Given the description of an element on the screen output the (x, y) to click on. 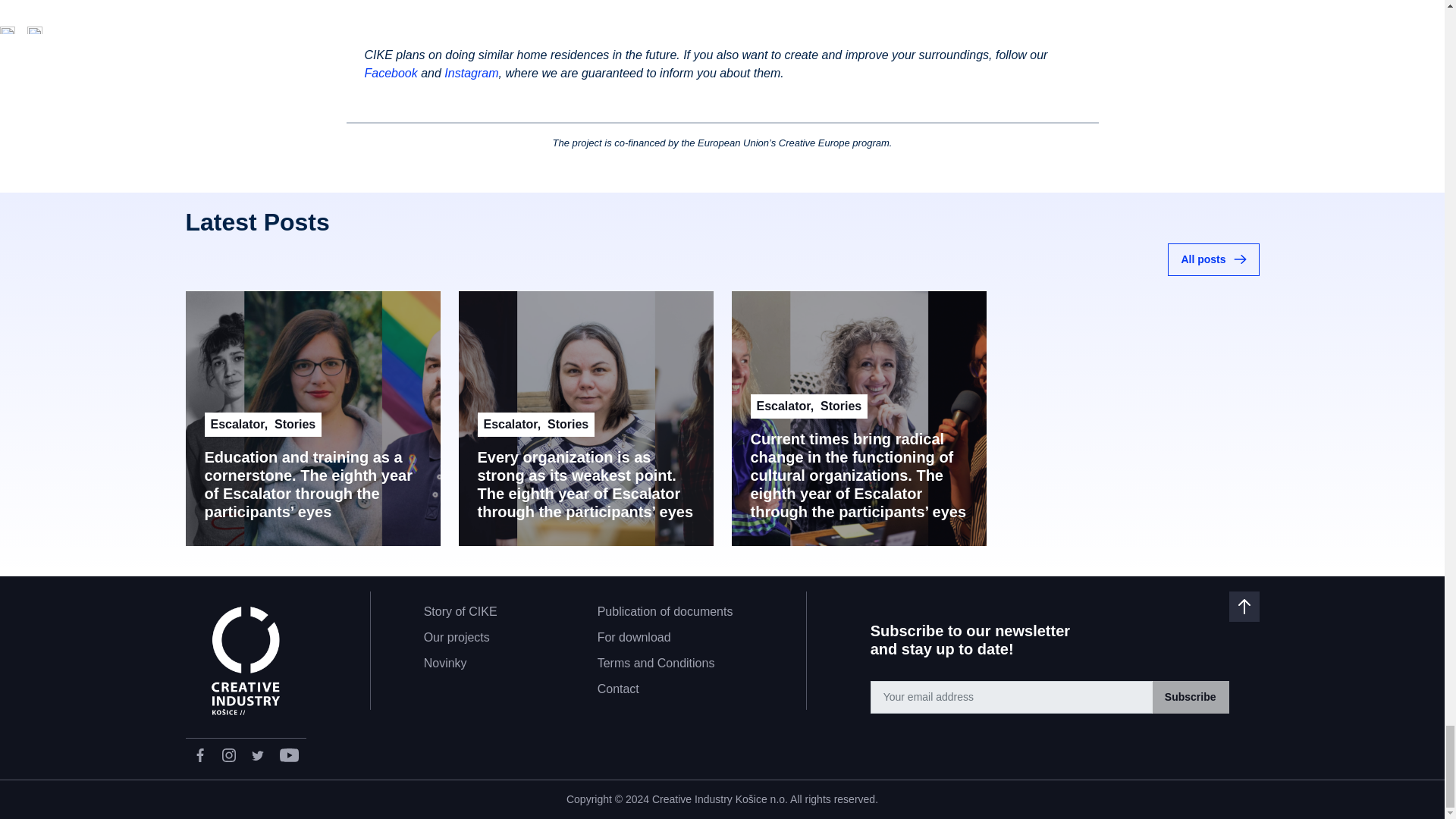
Terms and Conditions (655, 662)
instagram (227, 754)
Publication of documents (664, 611)
Story of CIKE (460, 611)
facebook (199, 754)
Instagram (470, 72)
For download (633, 636)
youtube (288, 754)
Back to top (1064, 606)
All posts (1213, 259)
